Given the description of an element on the screen output the (x, y) to click on. 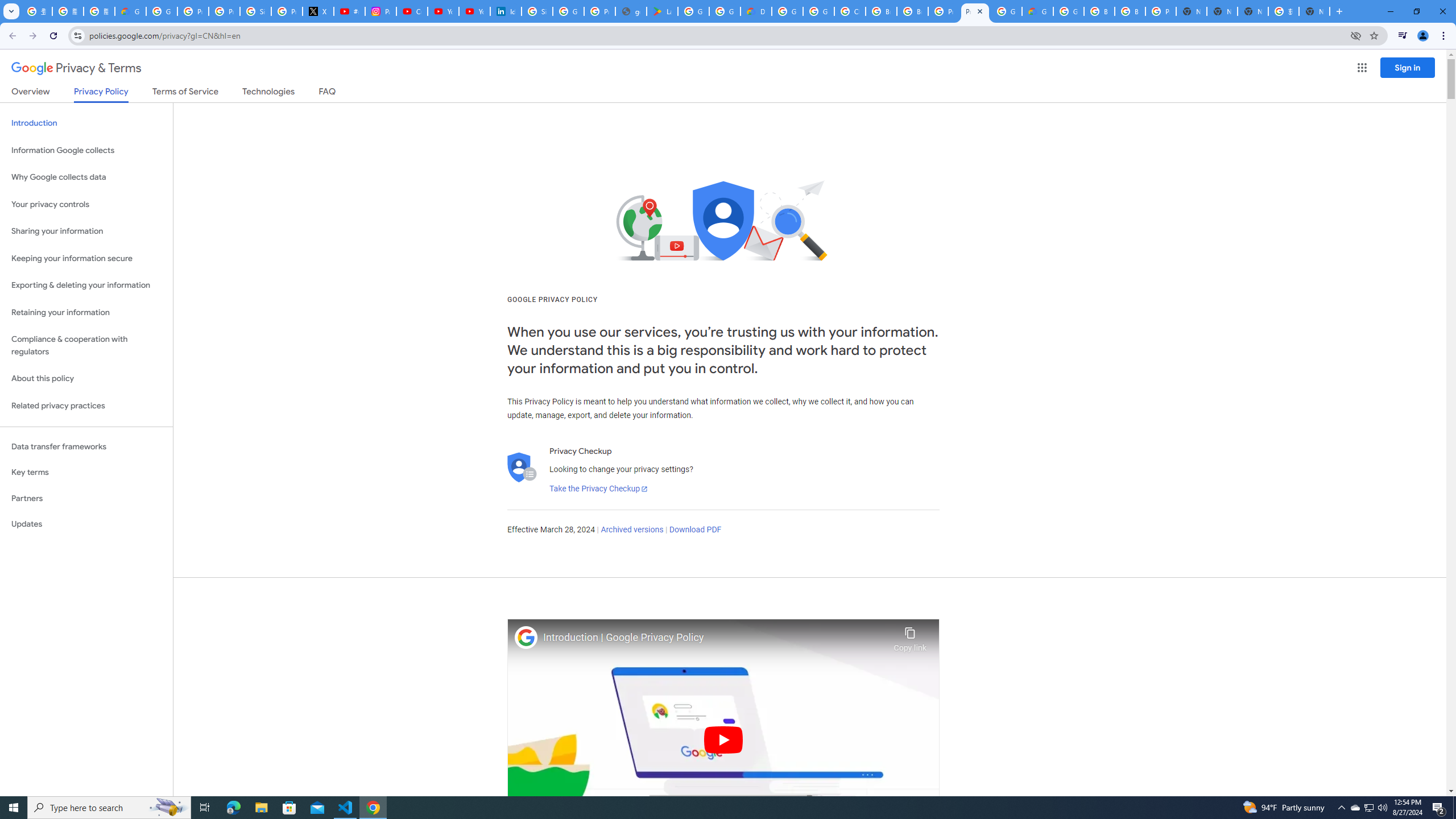
Take the Privacy Checkup (597, 488)
Archived versions (631, 529)
Google Cloud Platform (1068, 11)
Data transfer frameworks (86, 446)
Browse Chrome as a guest - Computer - Google Chrome Help (1129, 11)
Compliance & cooperation with regulators (86, 345)
New Tab (1190, 11)
